Given the description of an element on the screen output the (x, y) to click on. 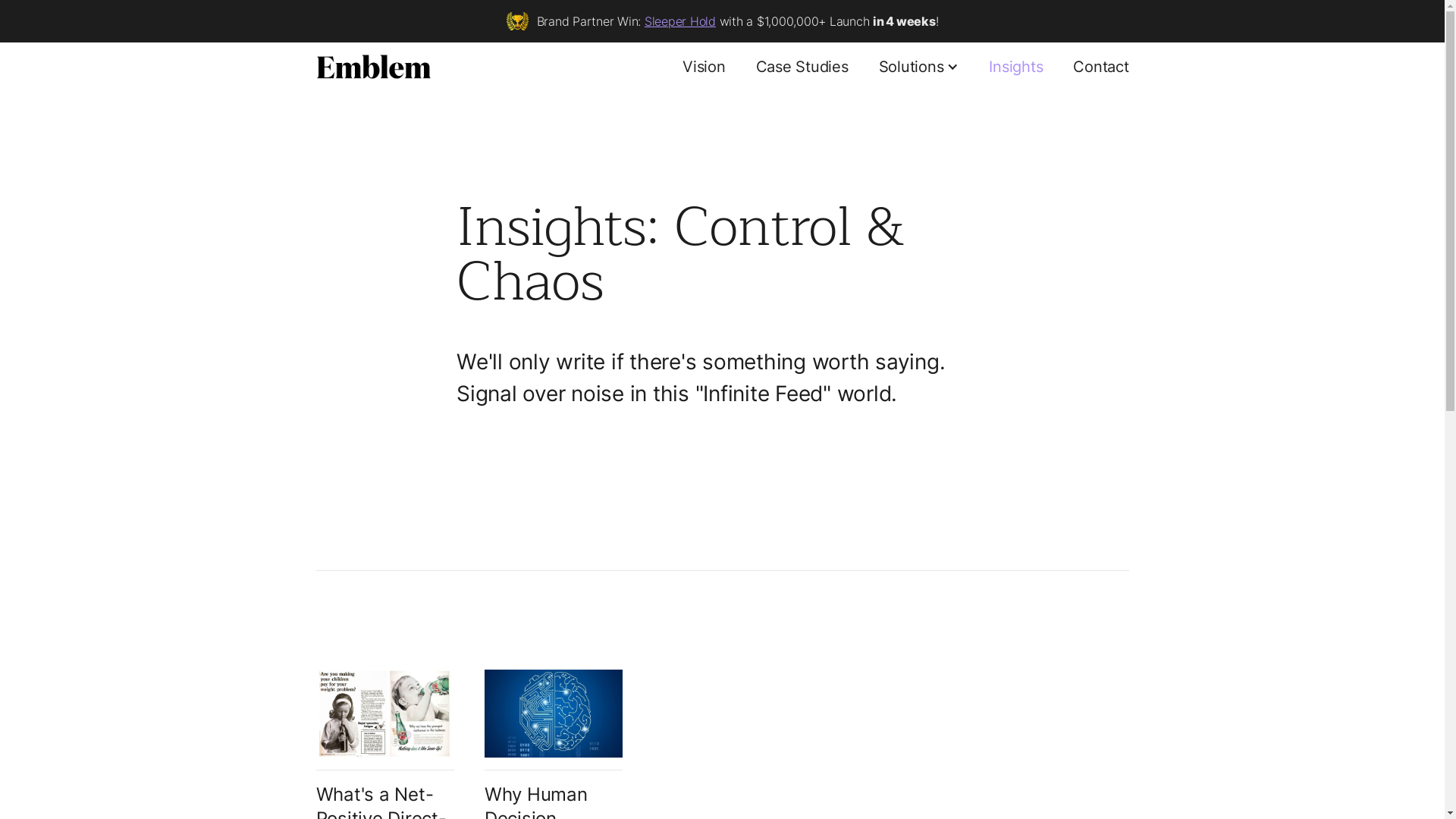
Sleeper Hold Element type: text (679, 20)
Contact Element type: text (1100, 66)
Solutions Element type: text (910, 66)
Insights Element type: text (1015, 66)
Vision Element type: text (703, 66)
Case Studies Element type: text (801, 66)
